Given the description of an element on the screen output the (x, y) to click on. 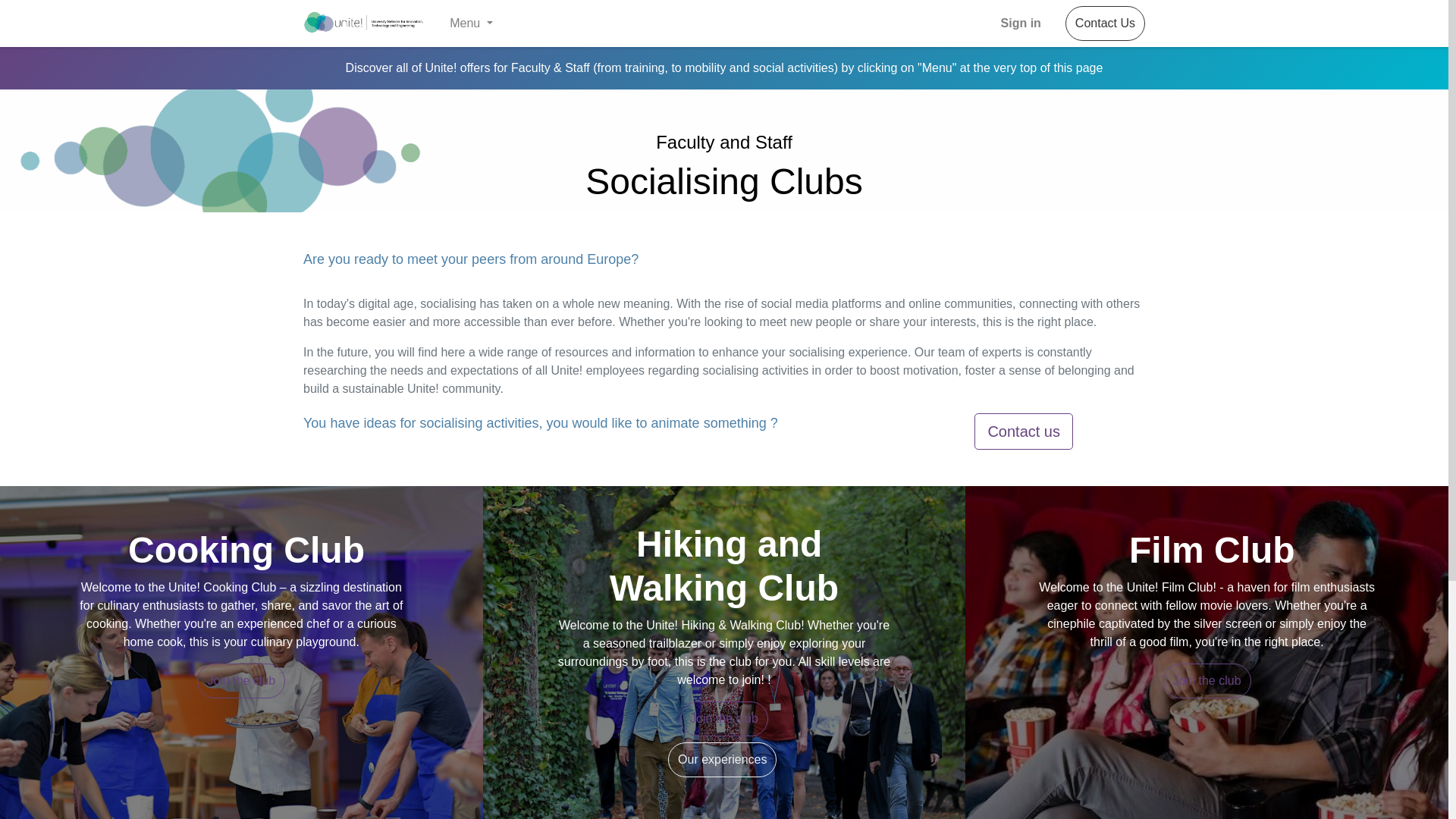
Our experiences (722, 759)
Sign in (1020, 23)
Contact Us (1104, 22)
Join the club (1206, 680)
Menu (471, 23)
Contact us (1023, 431)
Join the club (240, 680)
Join the club (723, 718)
Staff Hub Unite! (363, 23)
